Given the description of an element on the screen output the (x, y) to click on. 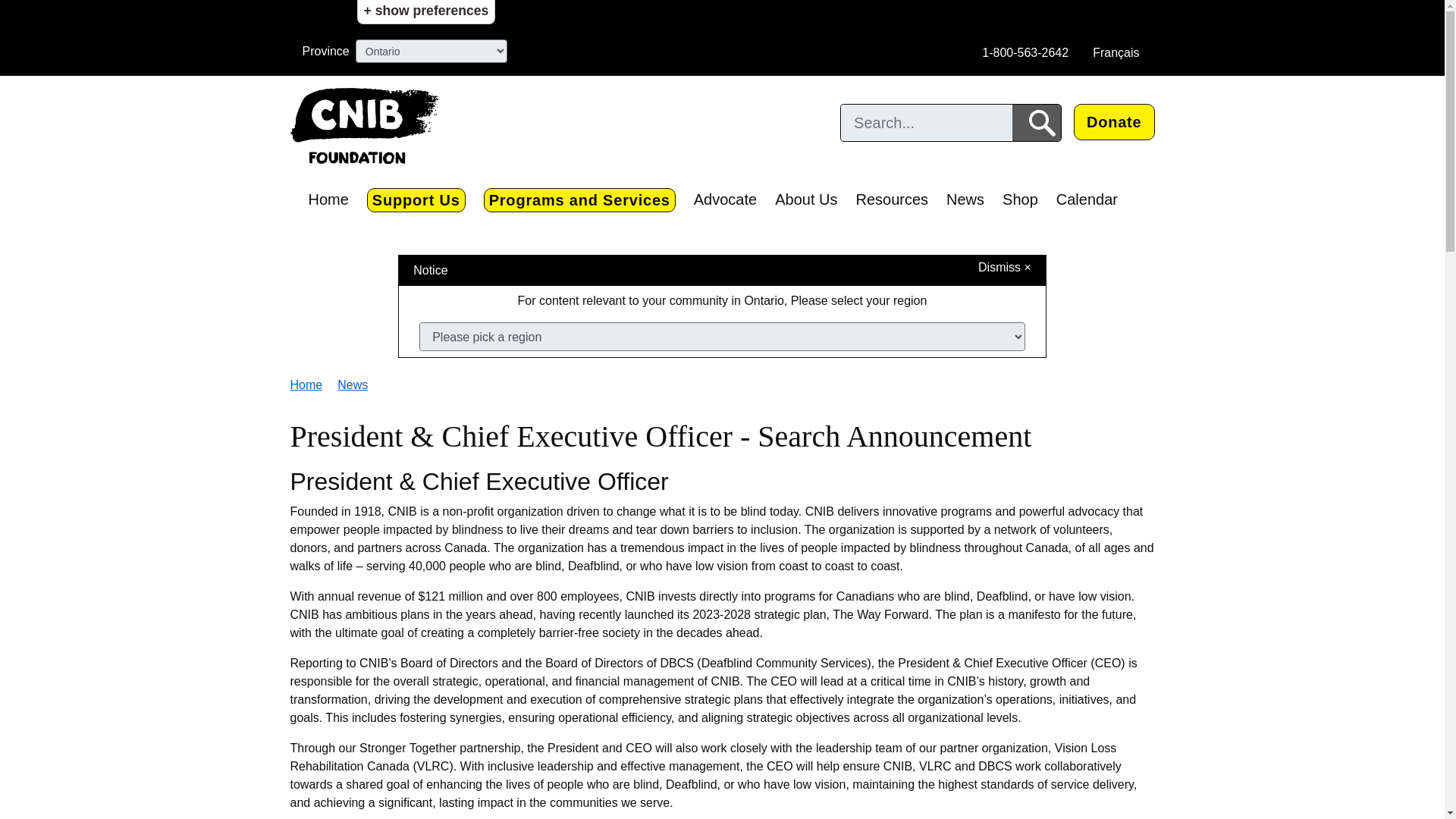
News (965, 199)
1-800-563-2642 (1024, 52)
Search (1036, 122)
Programs and Services (579, 200)
Home (305, 384)
Support Us (415, 200)
Home (327, 199)
Donate (1114, 122)
Calendar (1087, 199)
News (352, 384)
About Us (805, 199)
Advocate (725, 199)
Resources (892, 199)
